Given the description of an element on the screen output the (x, y) to click on. 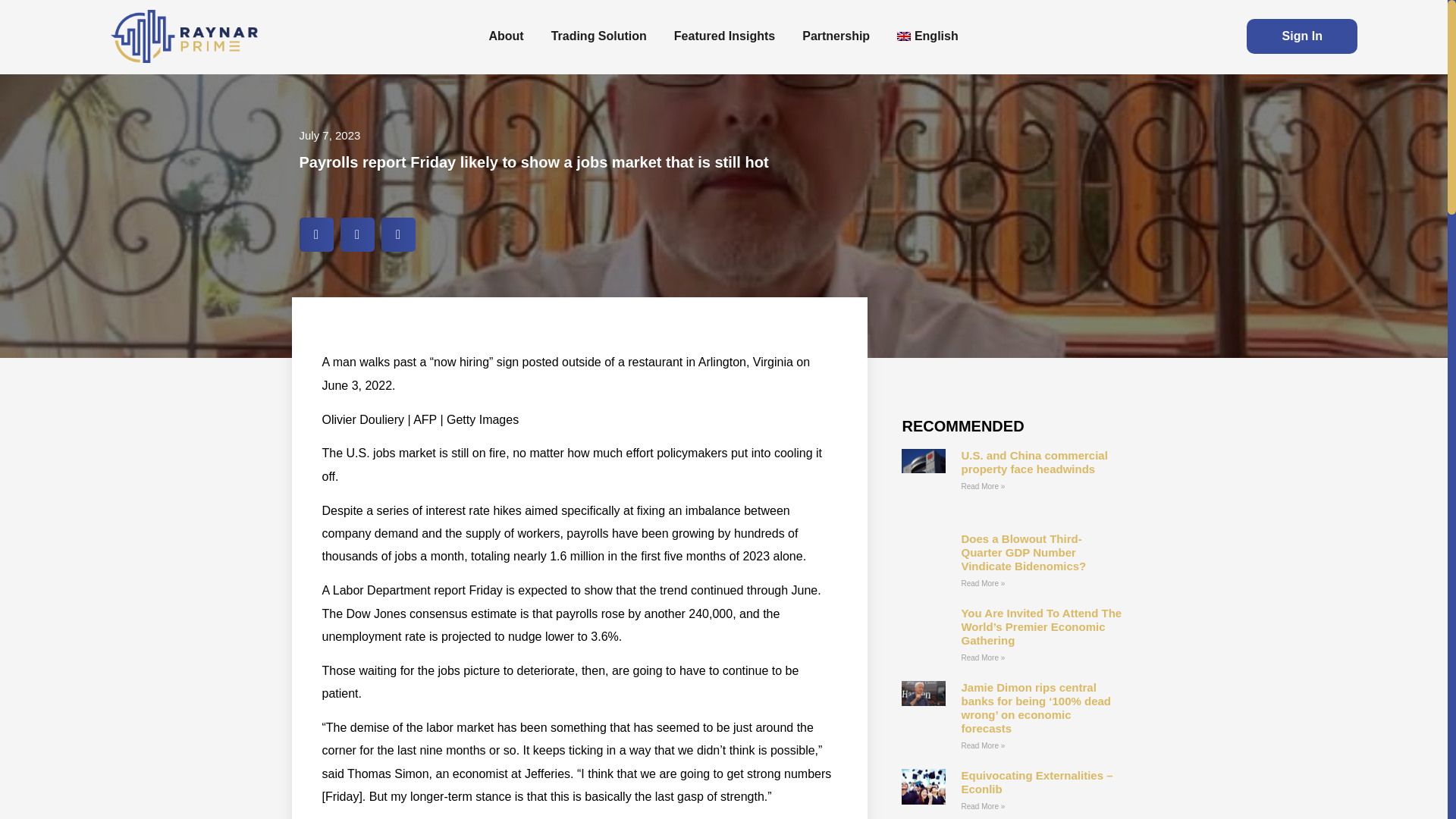
English (927, 36)
Trading Solution (599, 36)
About (505, 36)
Featured Insights (725, 36)
English (927, 36)
Sign In (1301, 36)
Partnership (836, 36)
